Given the description of an element on the screen output the (x, y) to click on. 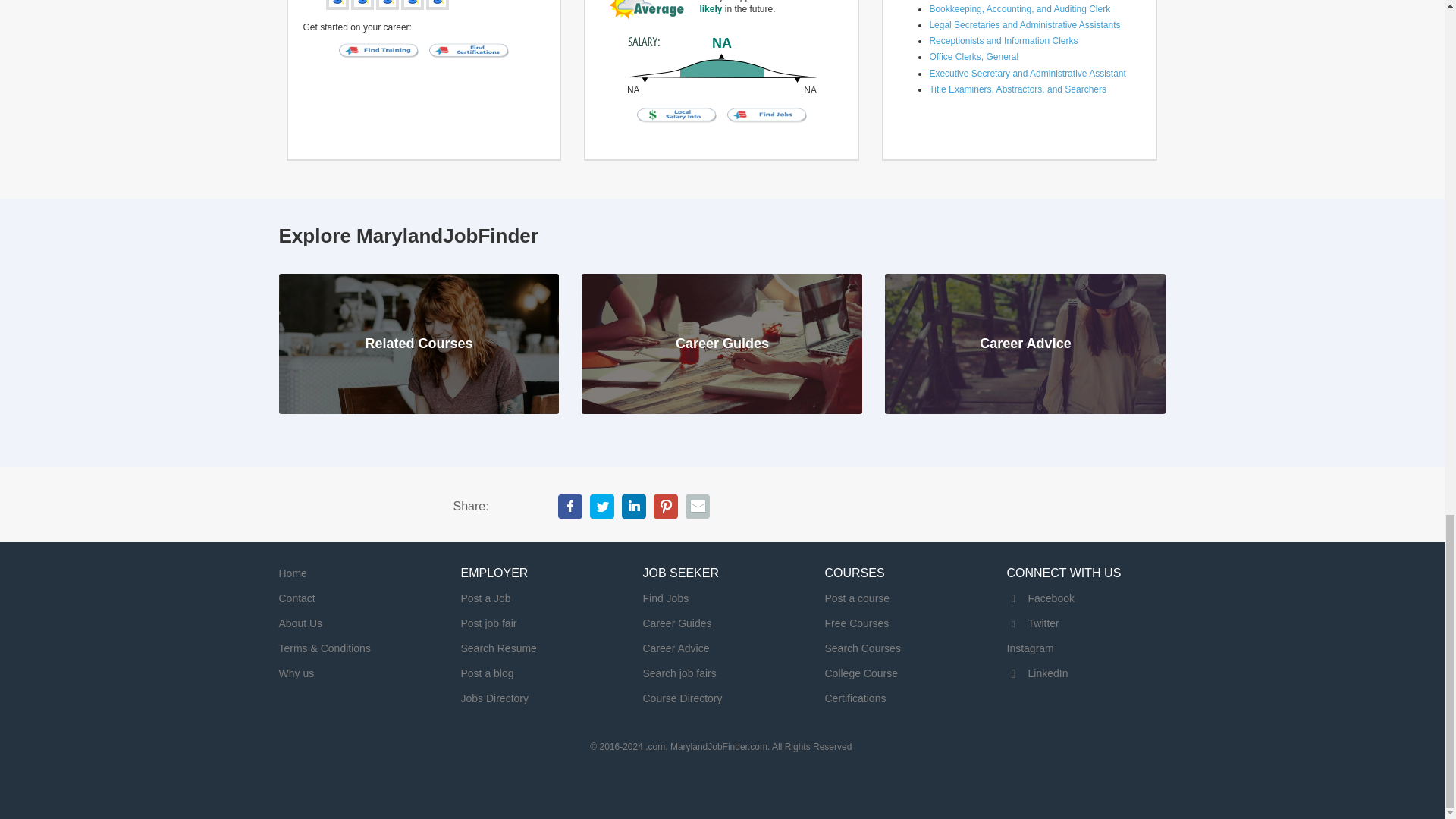
Post job fair (488, 623)
See local salary information (678, 114)
Find certifications (468, 50)
Find jobs for this career (766, 114)
Find training programs (379, 50)
why advertise with us (296, 673)
Career advice (676, 648)
Career Guides (677, 623)
terms and conditions (325, 648)
